Given the description of an element on the screen output the (x, y) to click on. 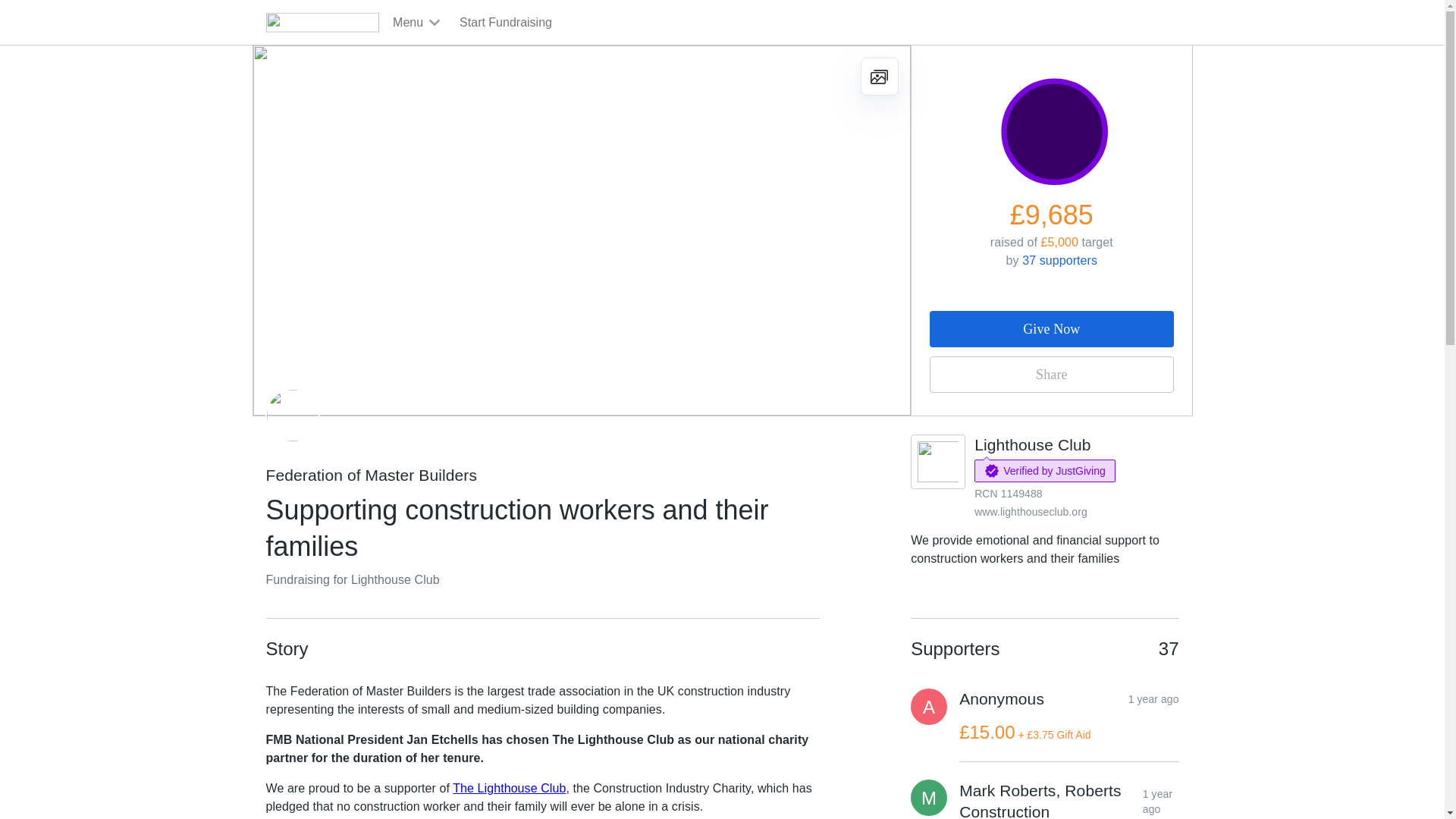
Give Now (1051, 329)
A (929, 706)
www.lighthouseclub.org (1030, 511)
Start Fundraising (505, 22)
Menu (416, 22)
37 supporters (1059, 259)
Lighthouse Club (1032, 444)
The Lighthouse Club (509, 788)
Search (919, 57)
Share (1051, 374)
M (929, 797)
